Given the description of an element on the screen output the (x, y) to click on. 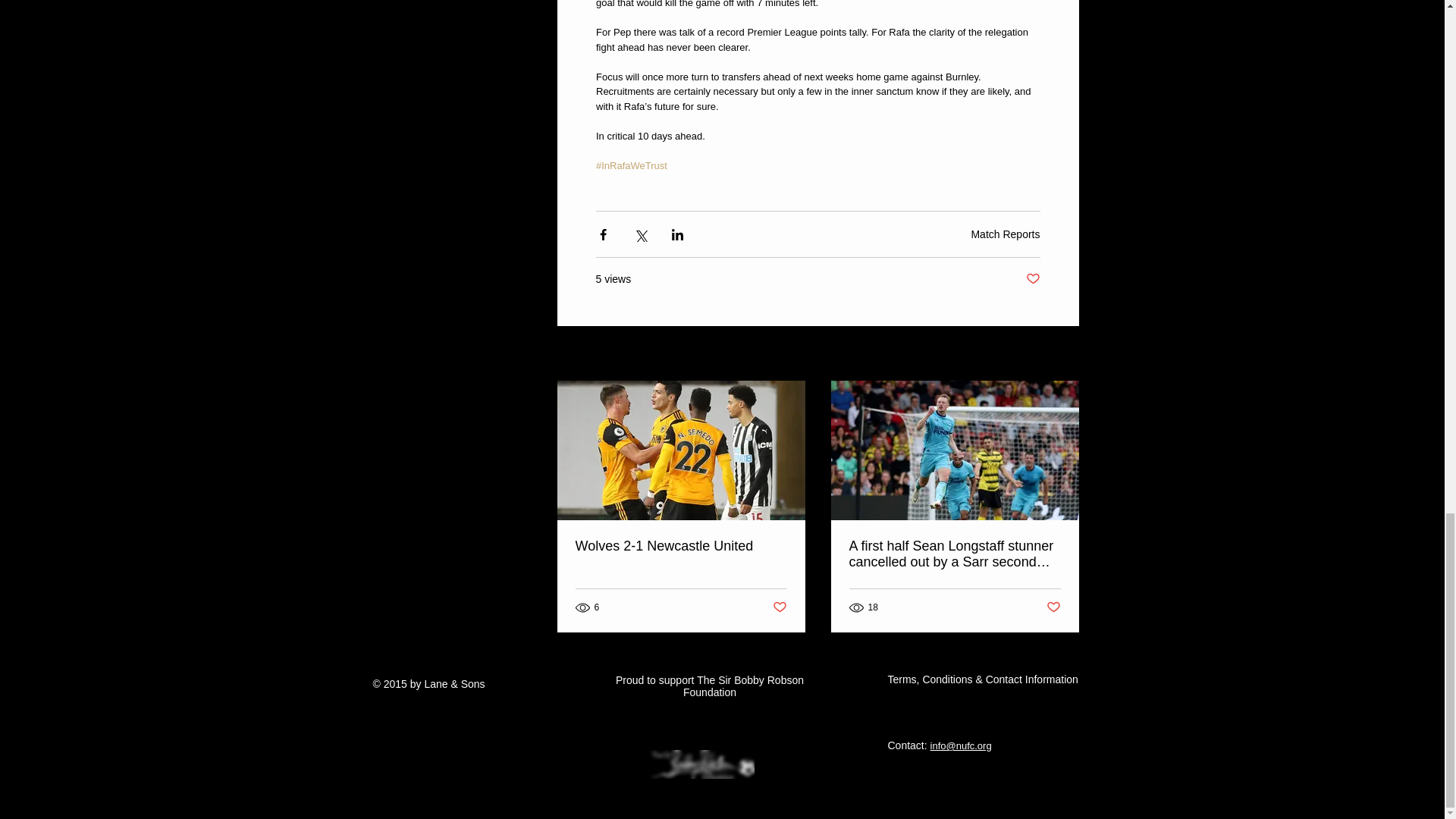
Post not marked as liked (778, 607)
Wolves 2-1 Newcastle United (680, 546)
See All (1061, 354)
Match Reports (1005, 234)
Post not marked as liked (1053, 607)
Post not marked as liked (1032, 279)
